Given the description of an element on the screen output the (x, y) to click on. 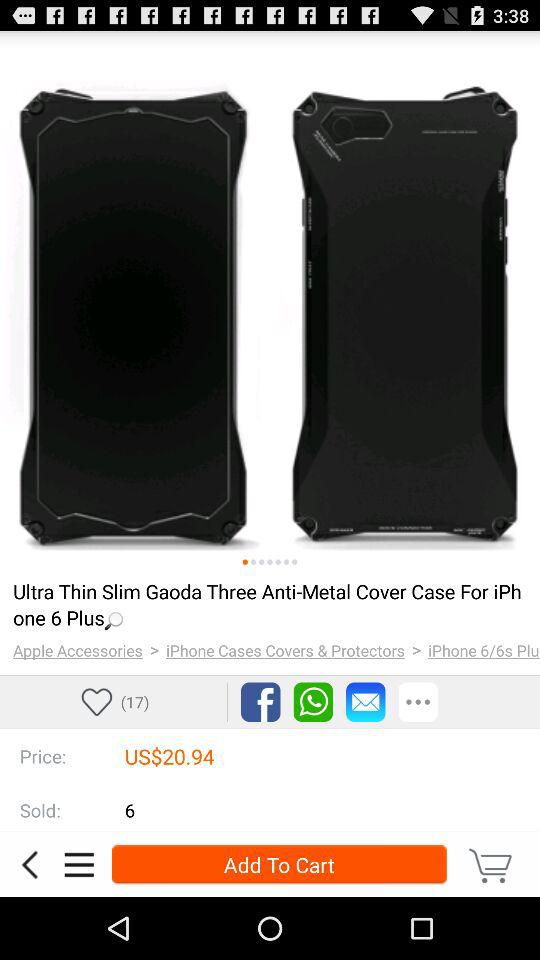
go to the sixth image (286, 561)
